Given the description of an element on the screen output the (x, y) to click on. 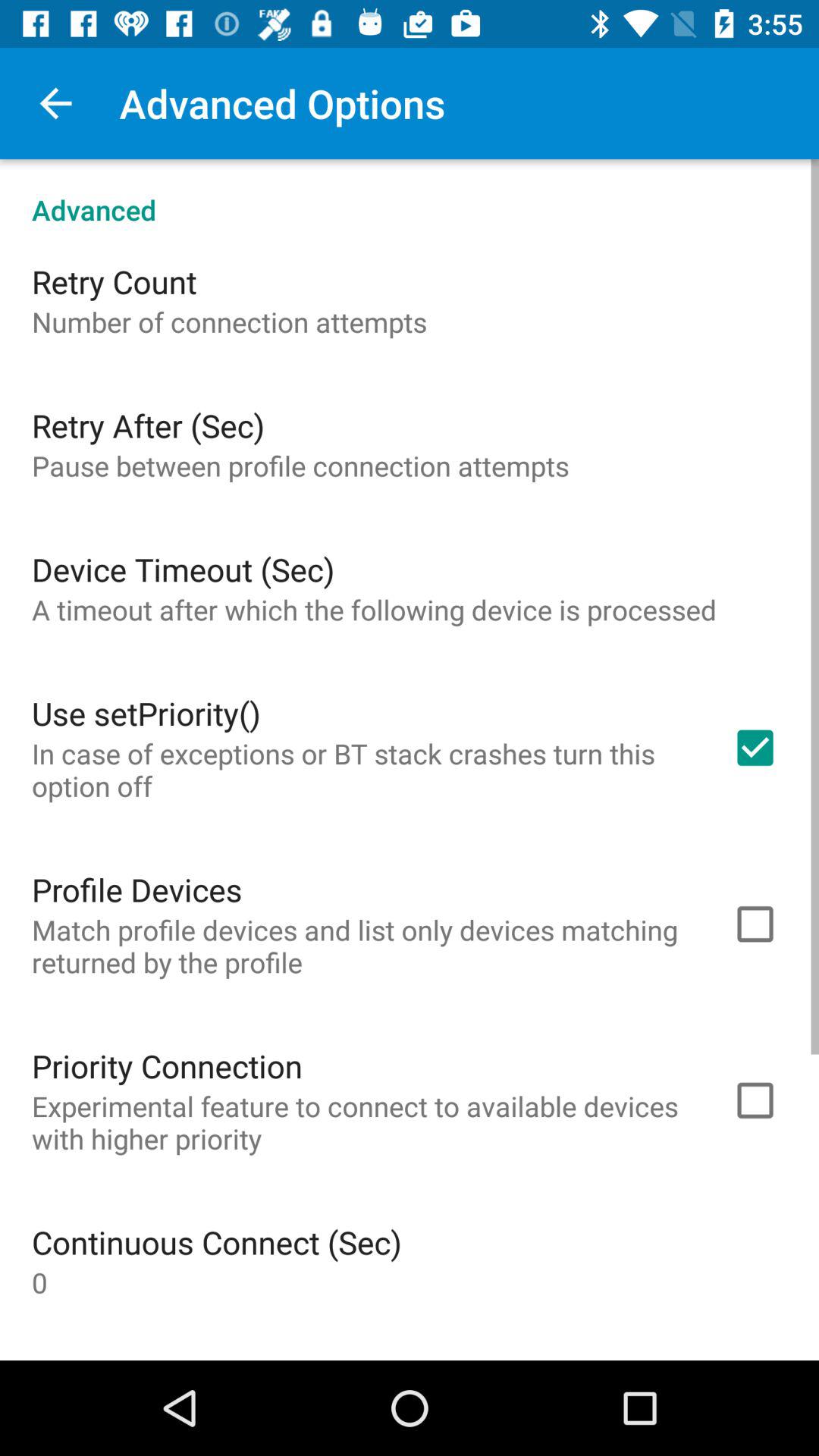
tap the item above profile devices icon (361, 769)
